Given the description of an element on the screen output the (x, y) to click on. 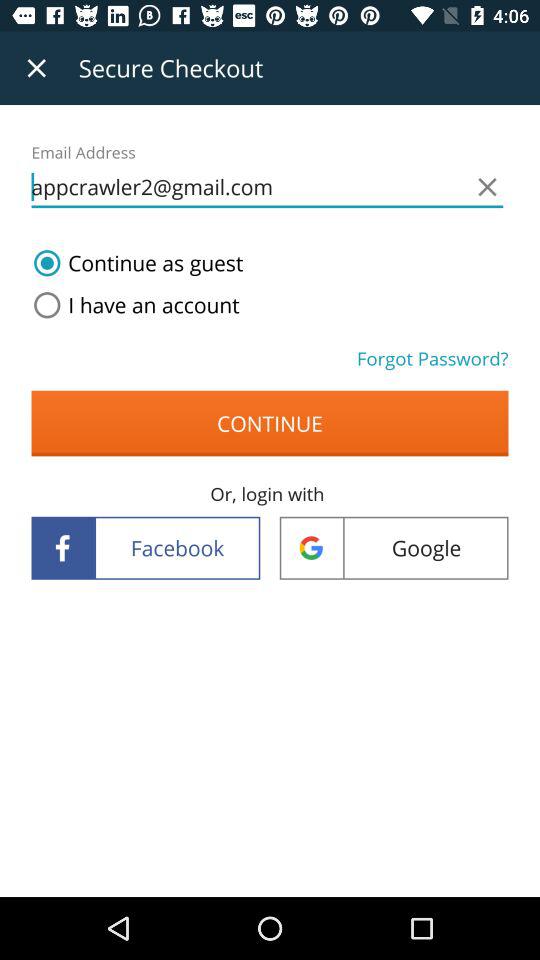
scroll to the forgot password? (432, 358)
